Given the description of an element on the screen output the (x, y) to click on. 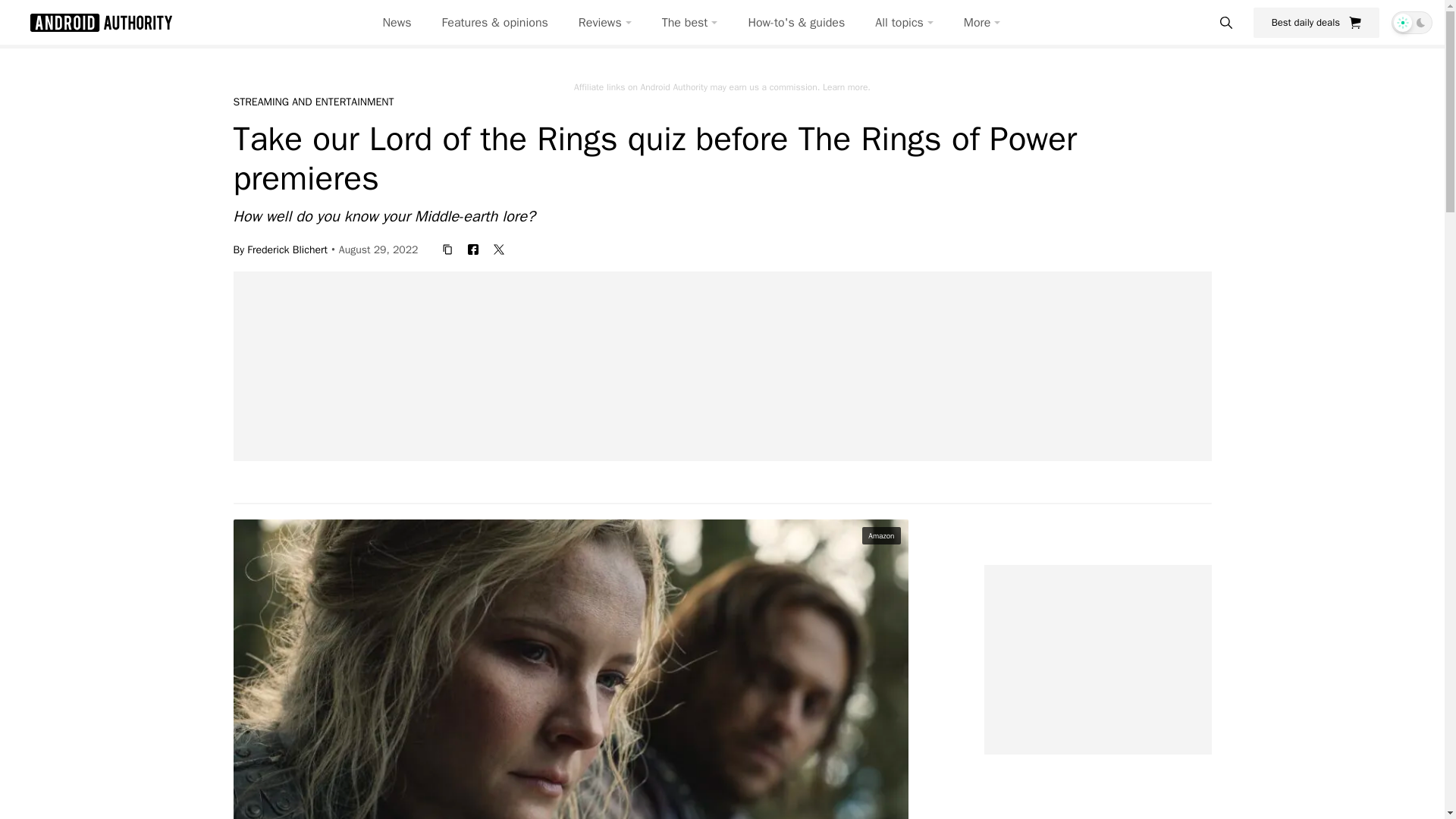
Learn more. (846, 86)
The best (689, 22)
STREAMING AND ENTERTAINMENT (313, 101)
Reviews (604, 22)
twitter (499, 249)
Frederick Blichert (287, 248)
facebook (473, 249)
All topics (904, 22)
Best daily deals (1315, 22)
